Given the description of an element on the screen output the (x, y) to click on. 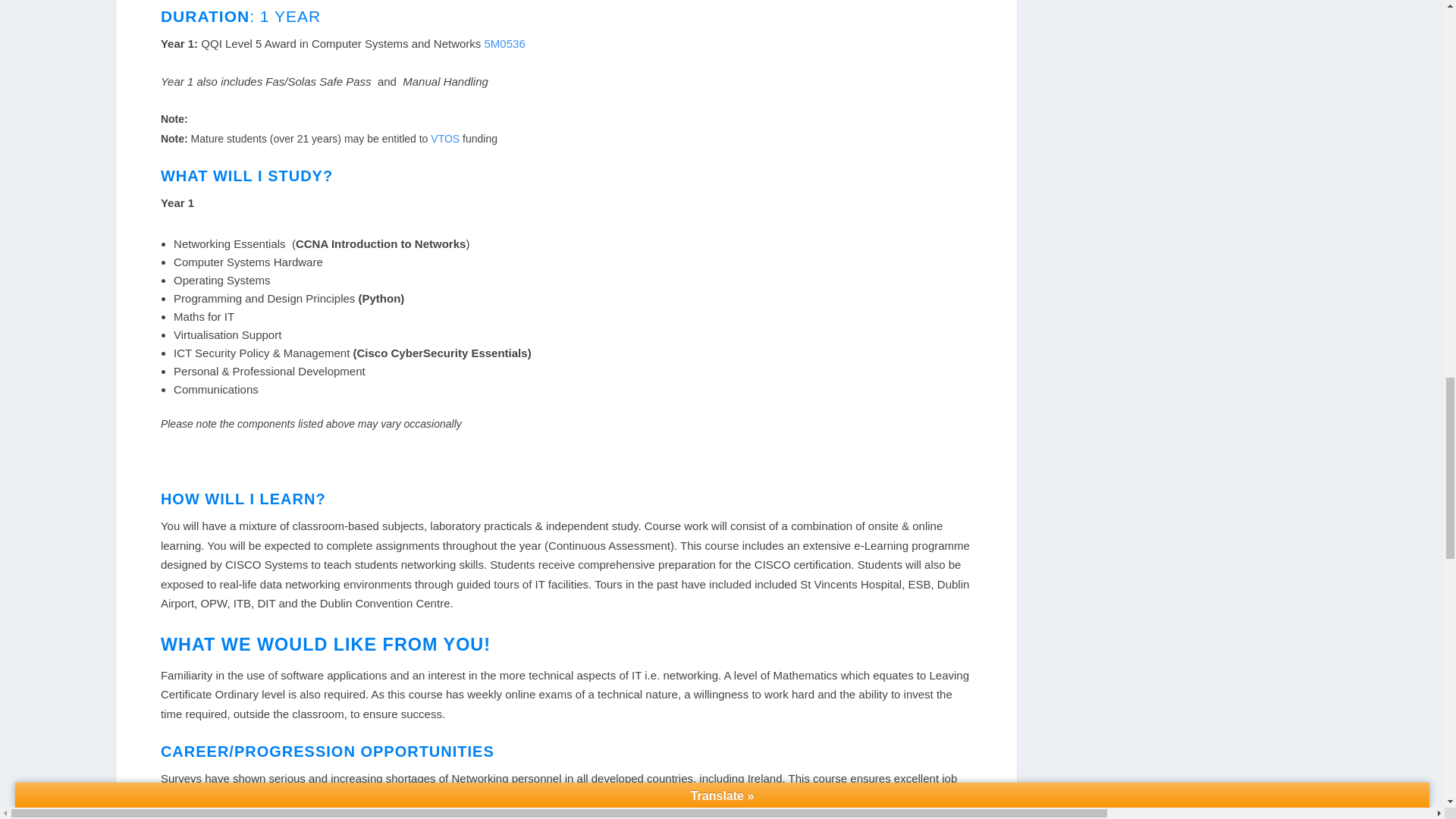
Higher Education Links Scheme (315, 814)
5M0536 (504, 42)
VTOS  (446, 138)
QQI Higher Education Links Scheme. (315, 814)
